Given the description of an element on the screen output the (x, y) to click on. 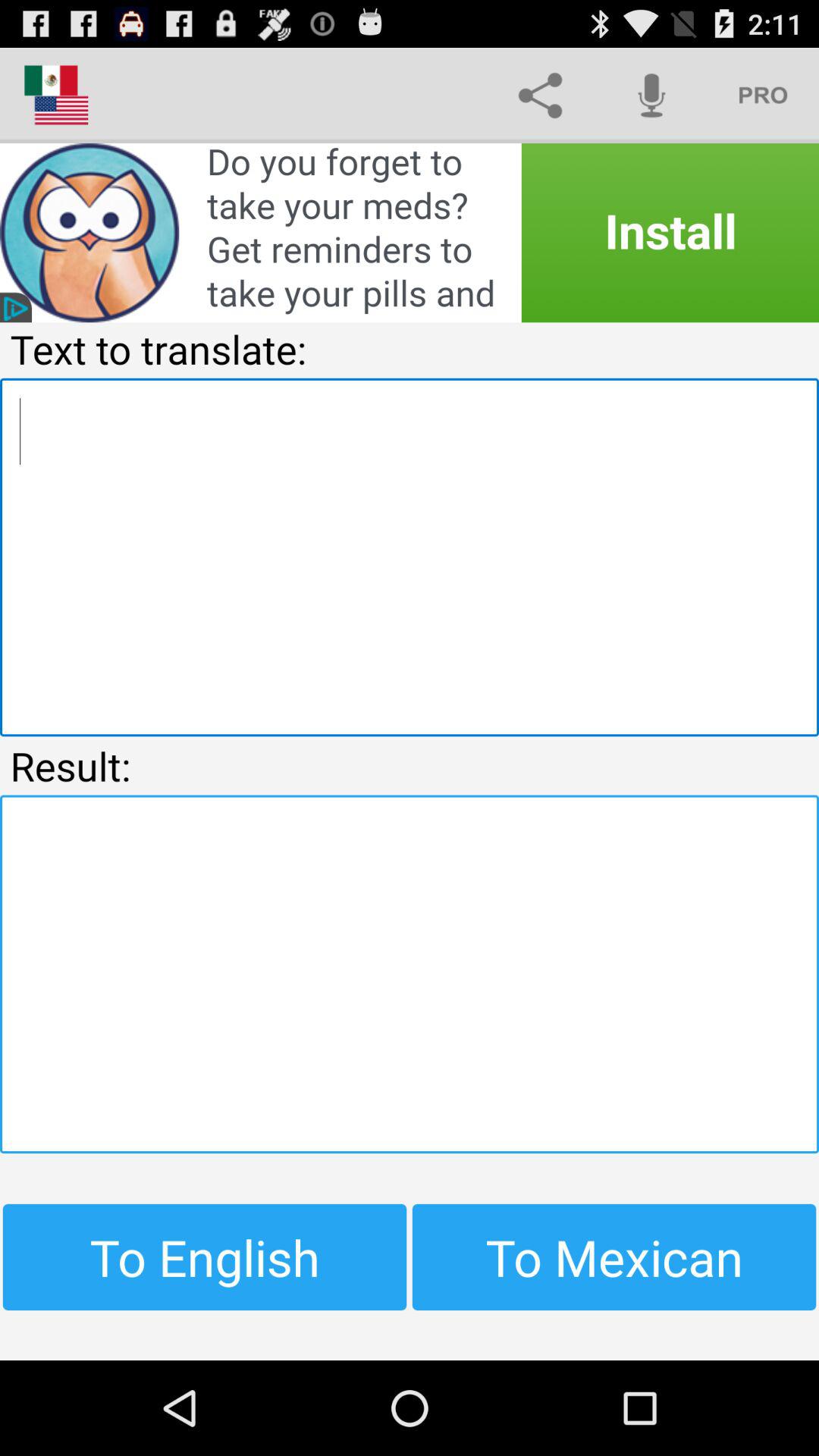
press the icon at the bottom (409, 974)
